Given the description of an element on the screen output the (x, y) to click on. 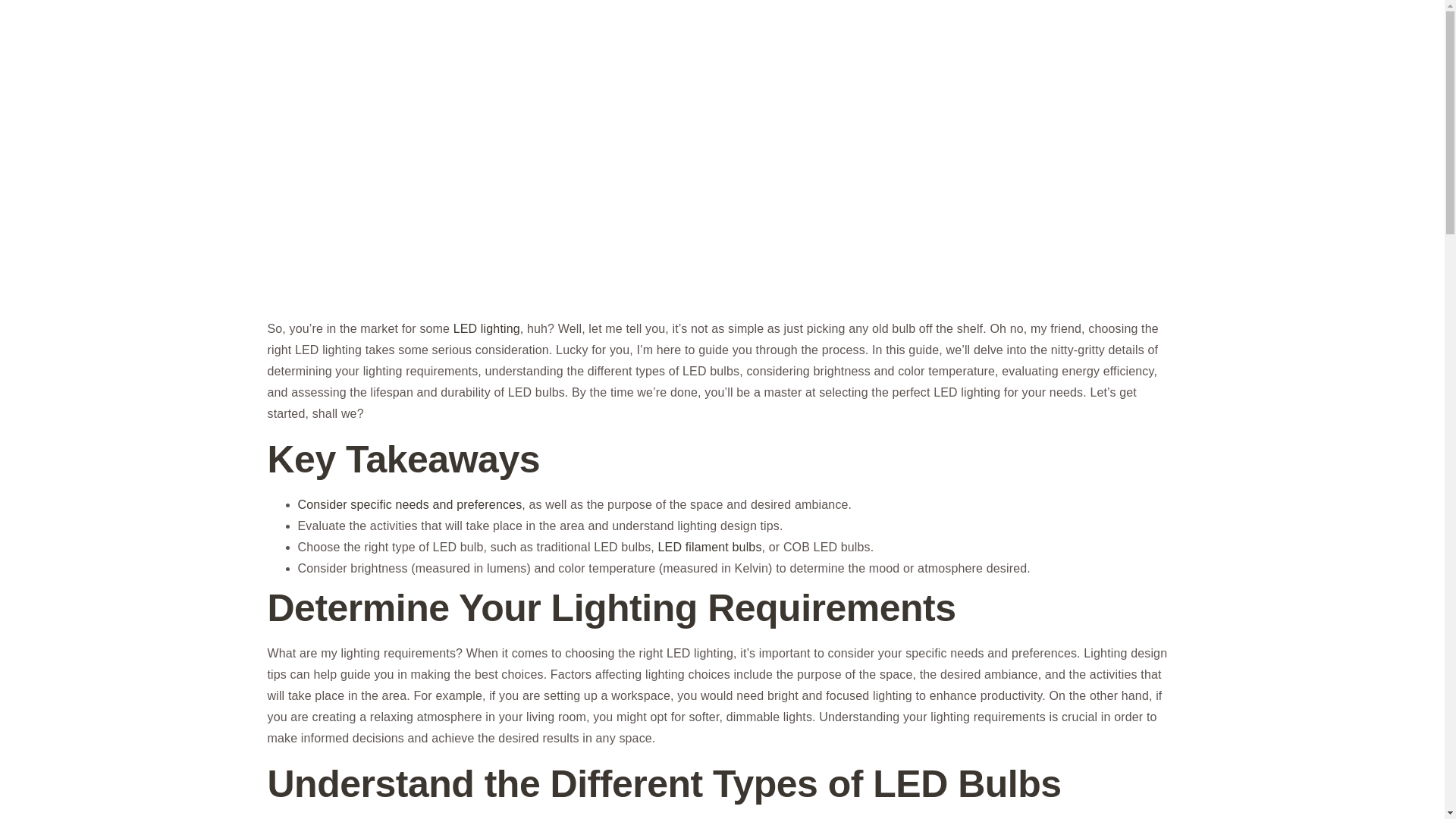
LED lighting (485, 328)
LED filament bulbs (709, 546)
Consider specific needs and preferences (409, 504)
